Given the description of an element on the screen output the (x, y) to click on. 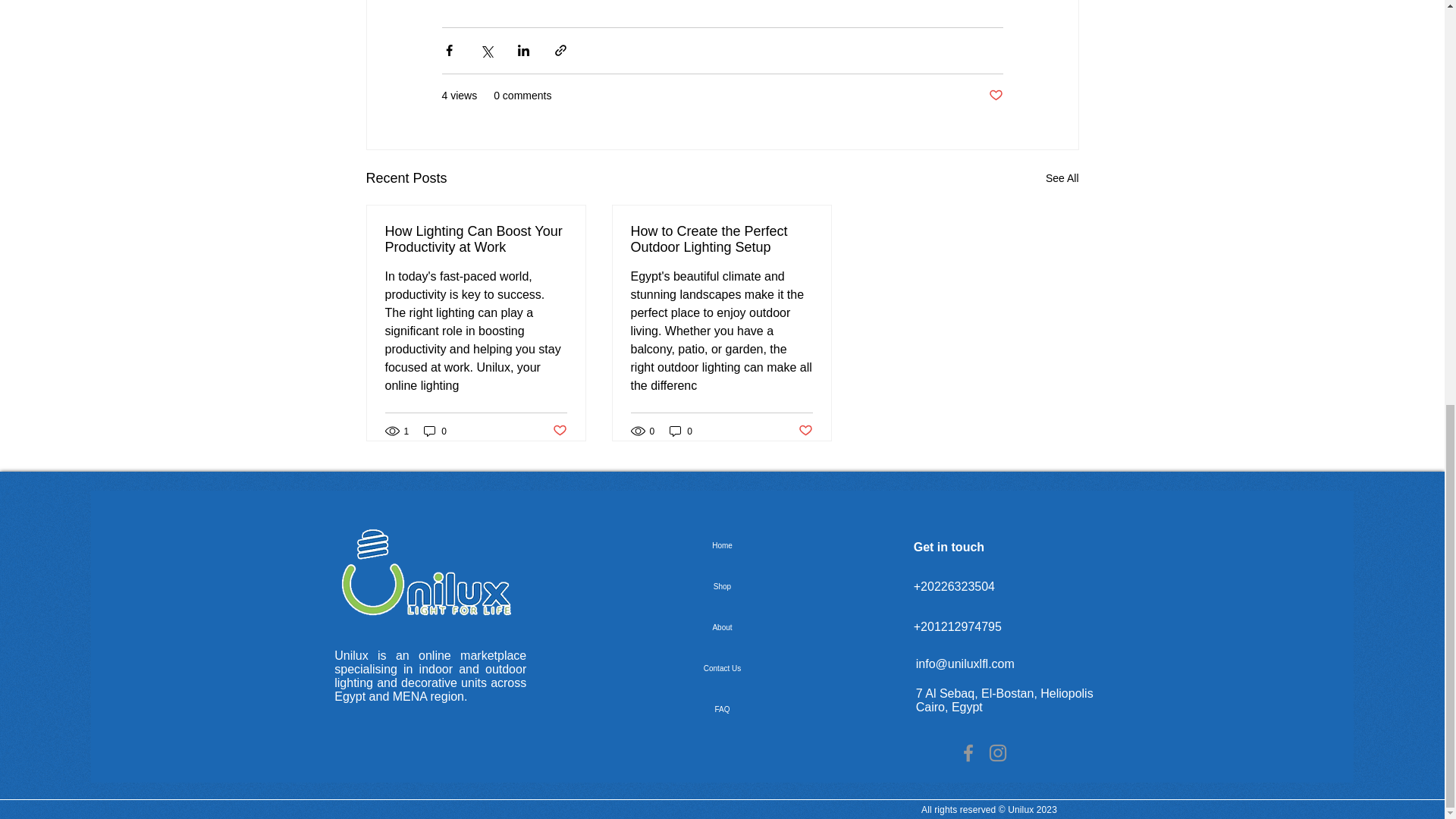
Home (722, 545)
0 (681, 431)
Post not marked as liked (558, 430)
How Lighting Can Boost Your Productivity at Work (476, 239)
About (722, 627)
FAQ (722, 709)
How to Create the Perfect Outdoor Lighting Setup (721, 239)
0 (435, 431)
Contact Us (722, 668)
See All (1061, 178)
7 Al Sebaq, El-Bostan, Heliopolis Cairo, Egypt (1004, 700)
Post not marked as liked (995, 95)
Shop (722, 586)
Post not marked as liked (804, 430)
